Given the description of an element on the screen output the (x, y) to click on. 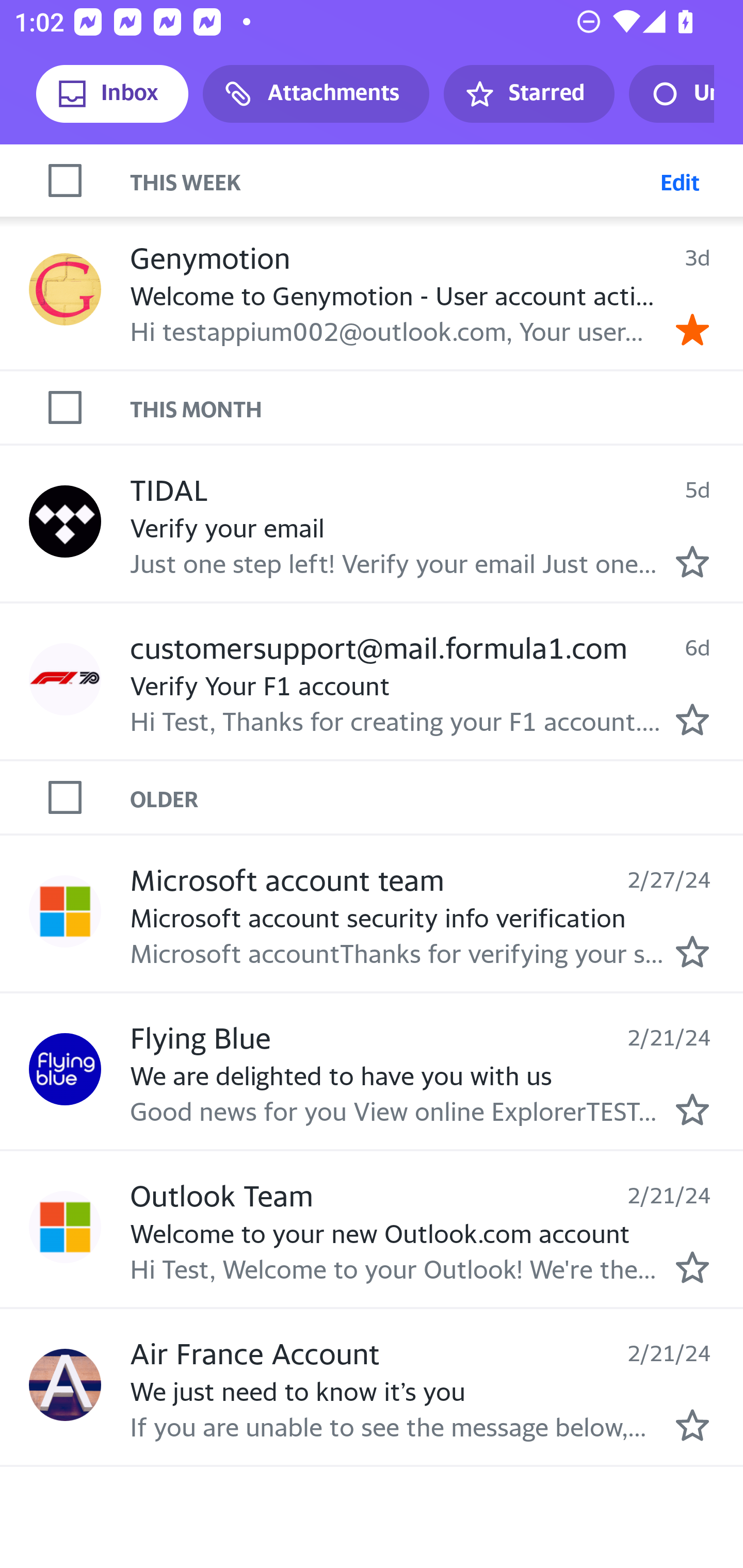
Attachments (315, 93)
Starred (528, 93)
Profile
Genymotion (64, 290)
Remove star. (692, 330)
THIS MONTH (436, 406)
Profile
TIDAL (64, 522)
Mark as starred. (692, 562)
Profile
customersupport@mail.formula1.com (64, 678)
Mark as starred. (692, 718)
OLDER (436, 797)
Profile
Microsoft account team (64, 910)
Mark as starred. (692, 950)
Profile
Flying Blue (64, 1069)
Mark as starred. (692, 1109)
Profile
Outlook Team (64, 1227)
Mark as starred. (692, 1267)
Profile
Air France Account (64, 1384)
Mark as starred. (692, 1424)
